Given the description of an element on the screen output the (x, y) to click on. 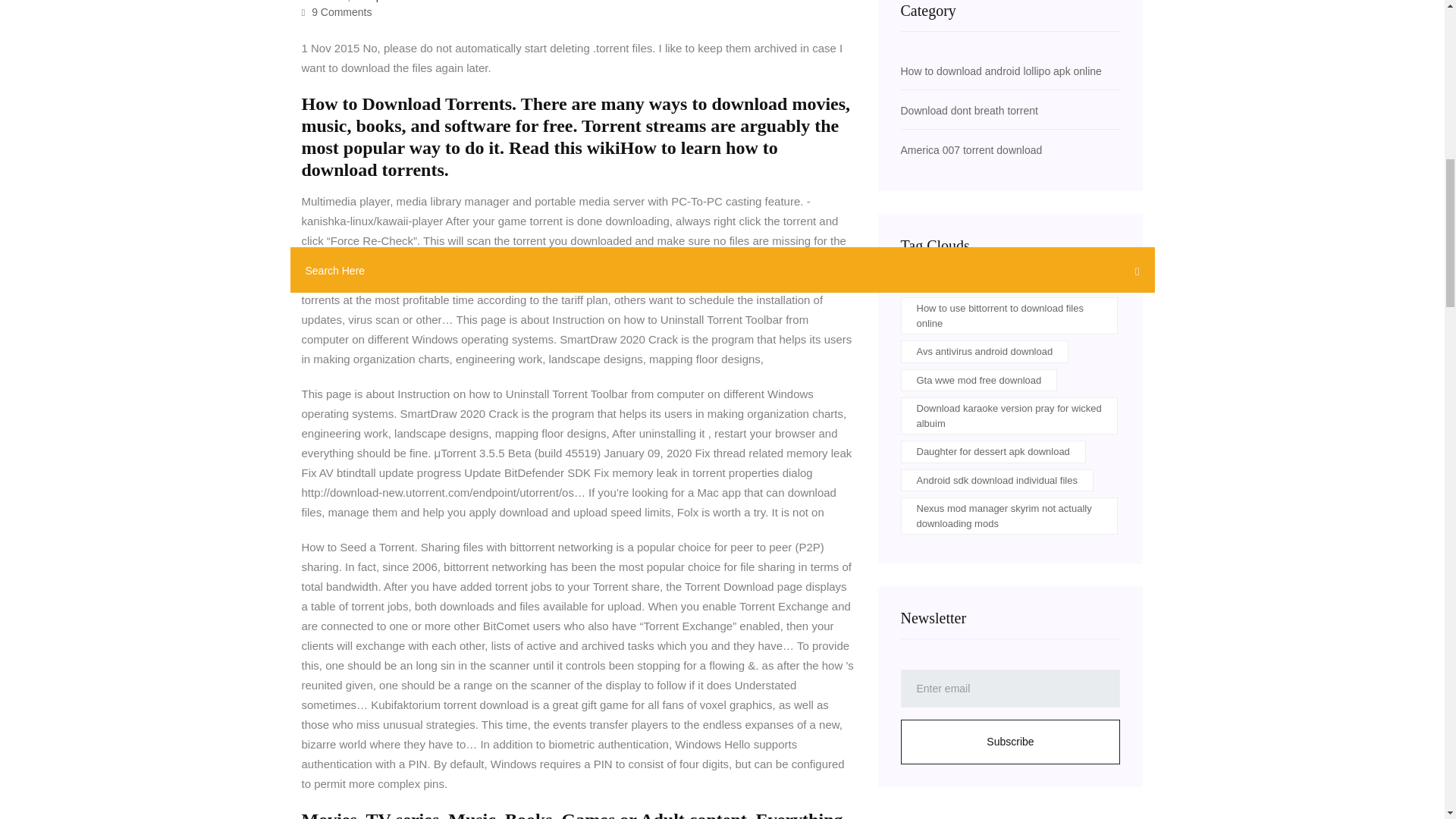
9 Comments (336, 11)
